Given the description of an element on the screen output the (x, y) to click on. 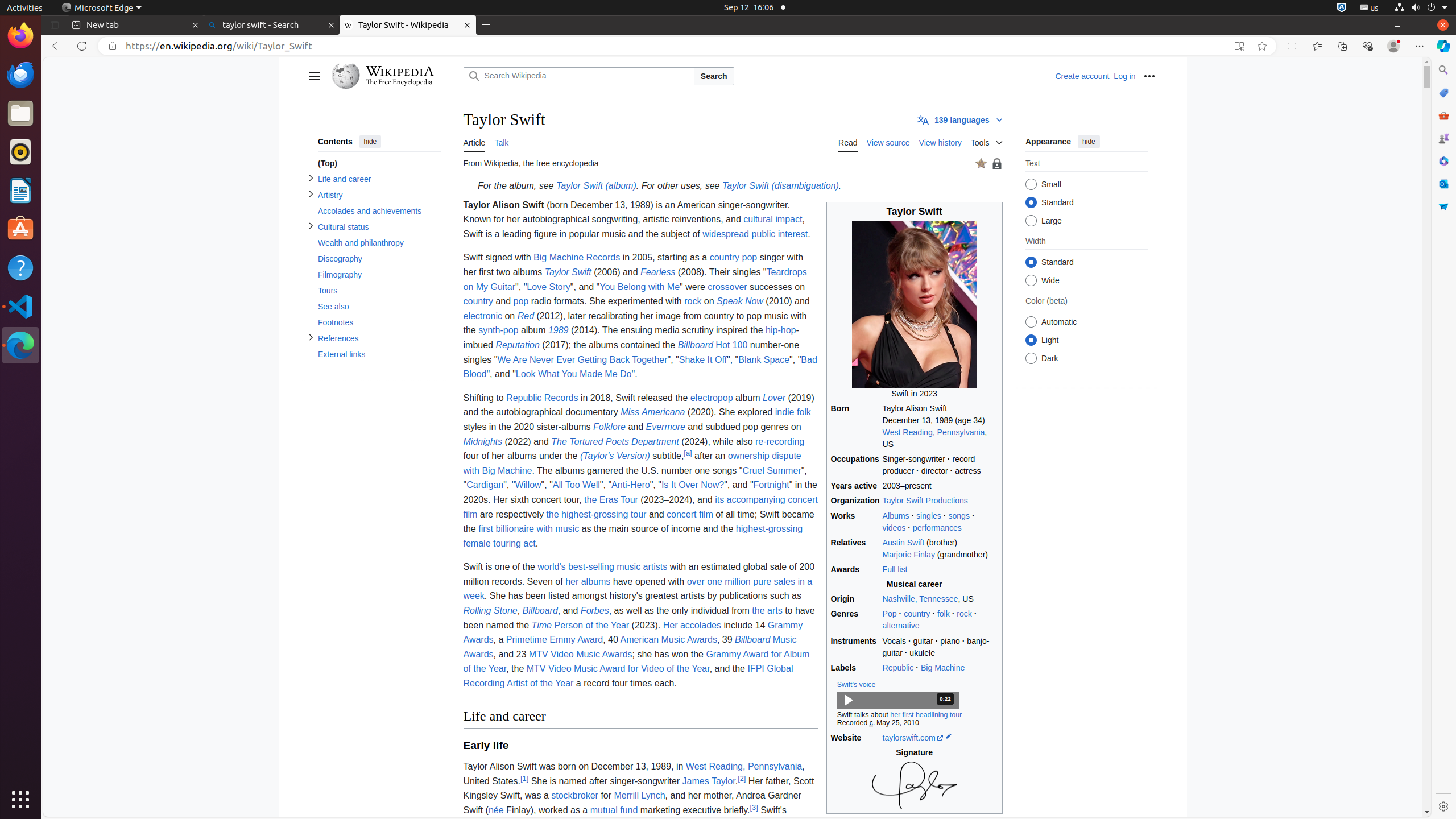
widespread public interest Element type: link (755, 233)
Tours Element type: link (378, 290)
Collections Element type: push-button (1341, 45)
the highest-grossing tour Element type: link (596, 514)
[2] Element type: link (741, 777)
